Given the description of an element on the screen output the (x, y) to click on. 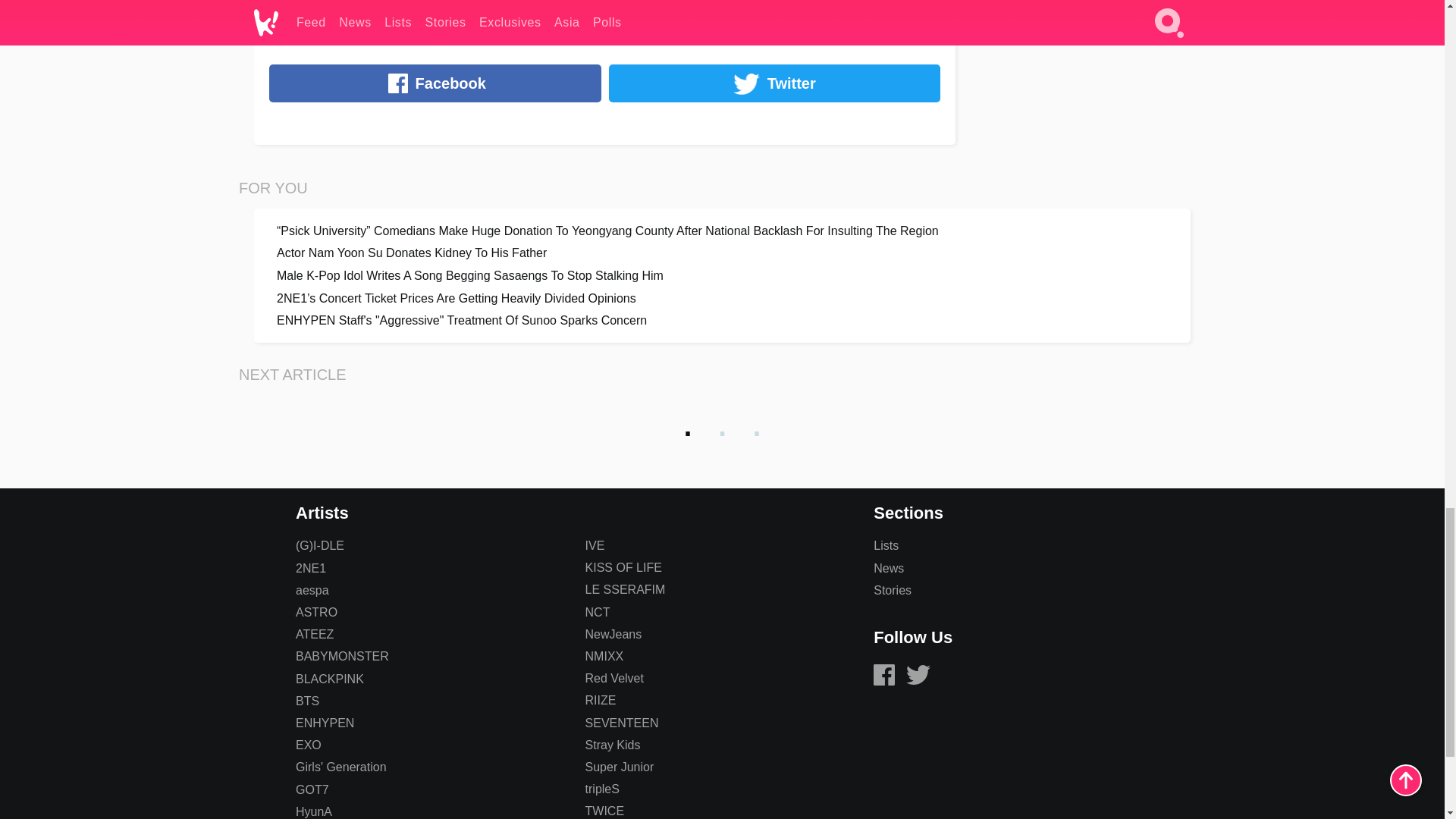
Actor Nam Yoon Su Donates Kidney To His Father (721, 252)
ASTRO (316, 612)
ENHYPEN (324, 722)
GOT7 (312, 789)
KISS OF LIFE (623, 567)
BTS (306, 700)
HyunA (313, 811)
aespa (312, 590)
EXO (308, 744)
BLACKPINK (329, 678)
Girls' Generation (341, 766)
BABYMONSTER (341, 656)
ATEEZ (314, 634)
